Given the description of an element on the screen output the (x, y) to click on. 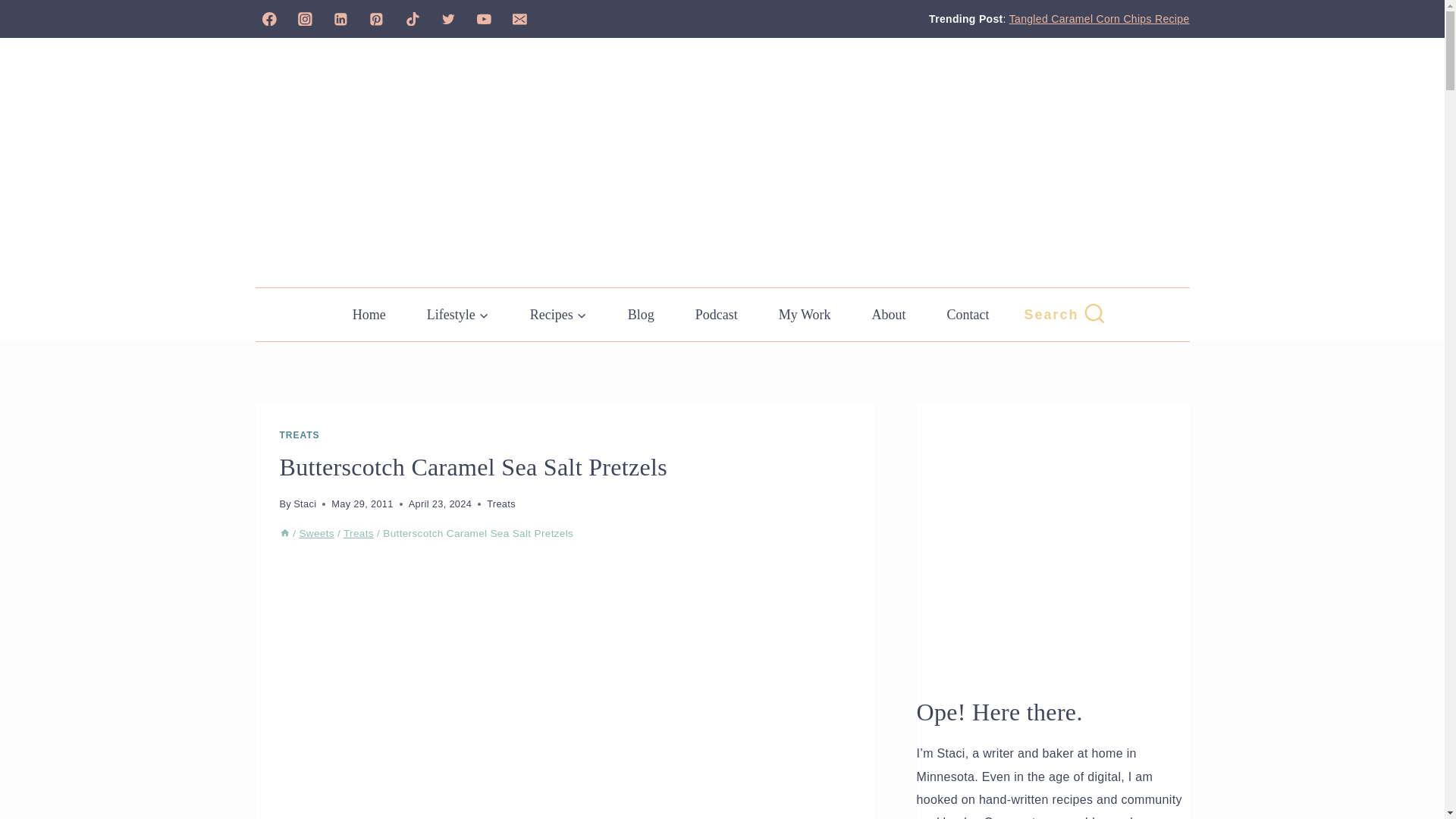
Blog (641, 314)
Home (284, 532)
Podcast (716, 314)
About (888, 314)
Lifestyle (457, 314)
Tangled Caramel Corn Chips Recipe (1099, 19)
Home (368, 314)
Contact (968, 314)
My Work (804, 314)
Recipes (558, 314)
